Given the description of an element on the screen output the (x, y) to click on. 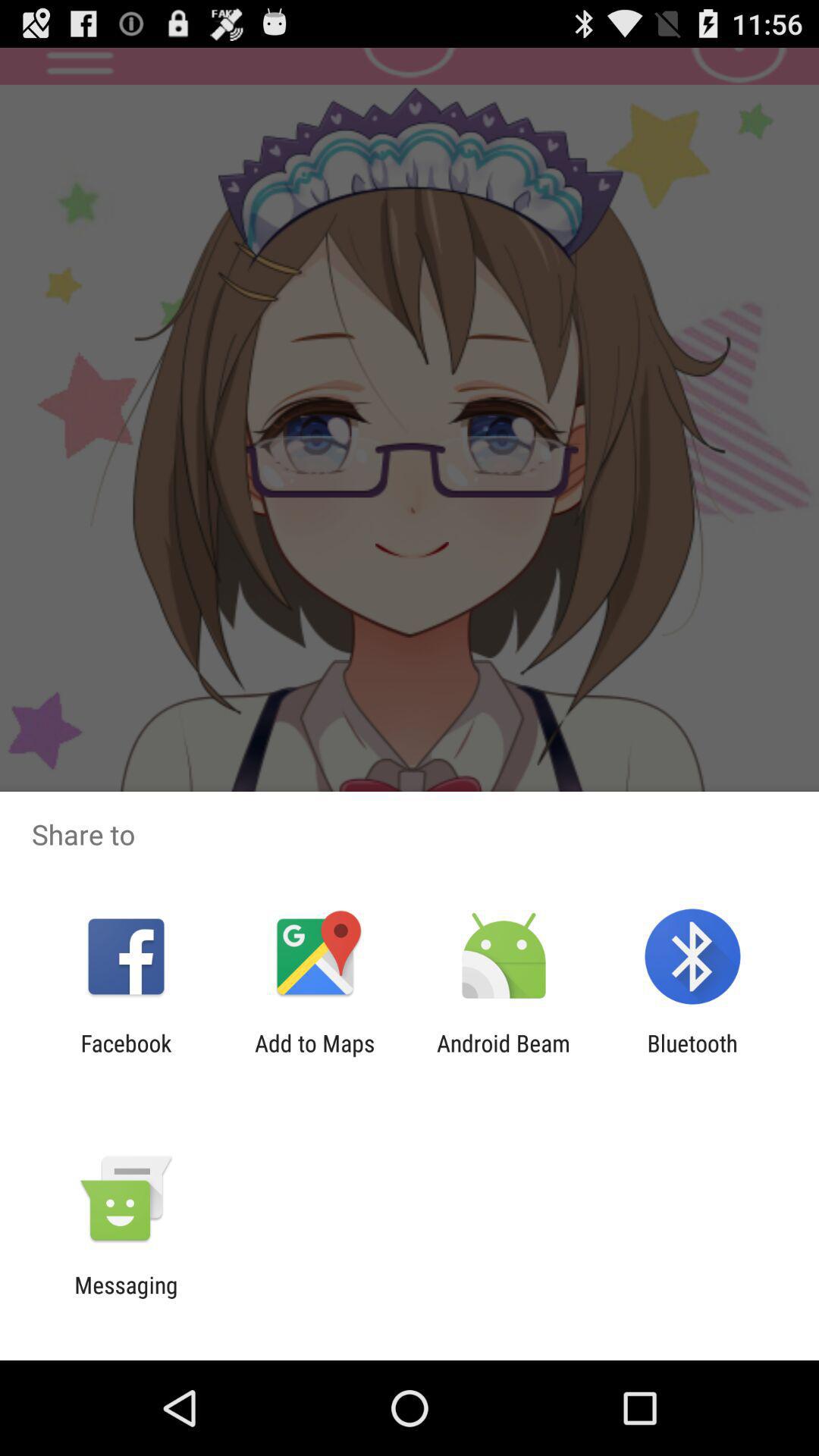
flip to add to maps icon (314, 1056)
